Given the description of an element on the screen output the (x, y) to click on. 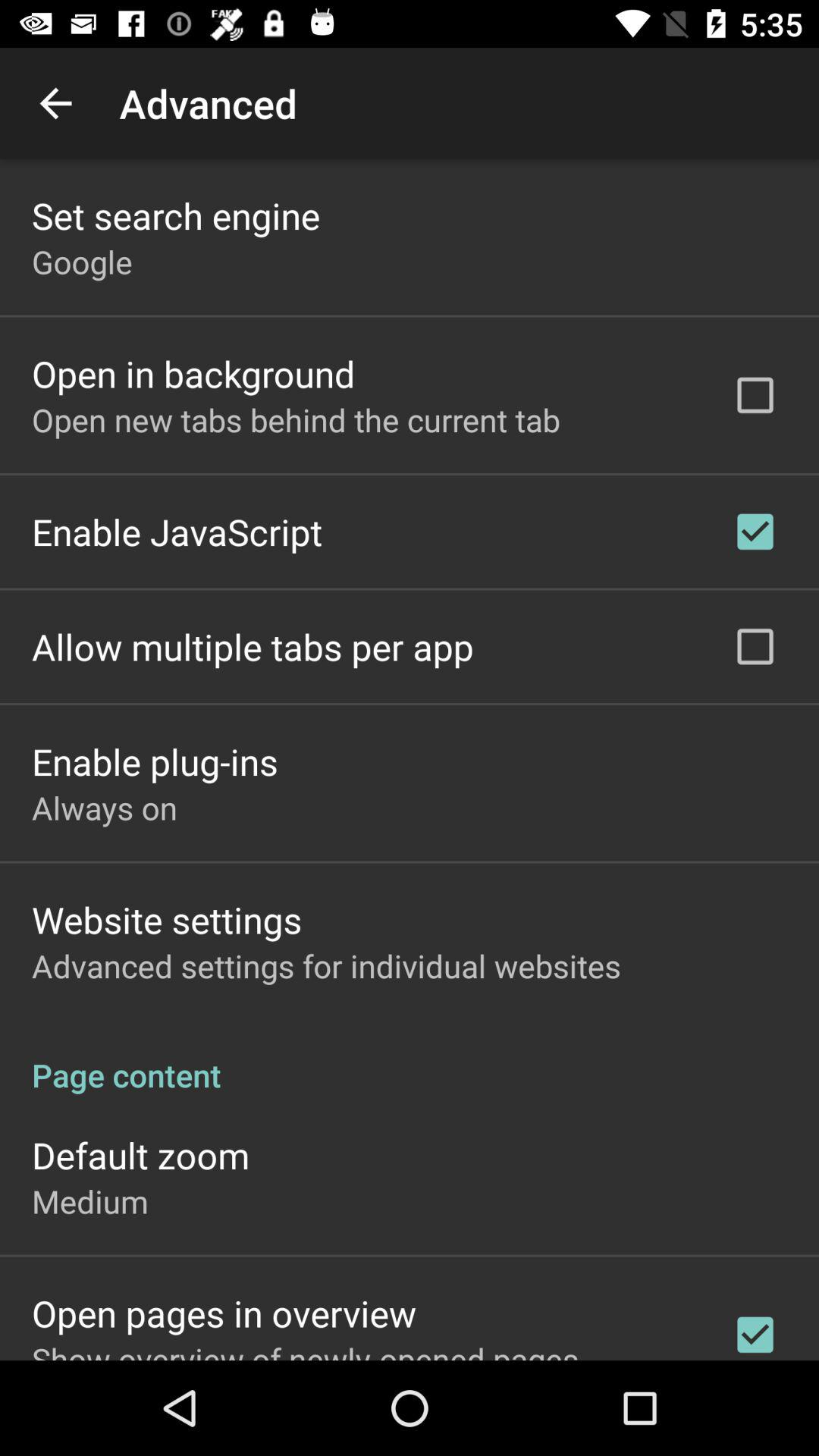
open the icon above the open pages in icon (89, 1200)
